Given the description of an element on the screen output the (x, y) to click on. 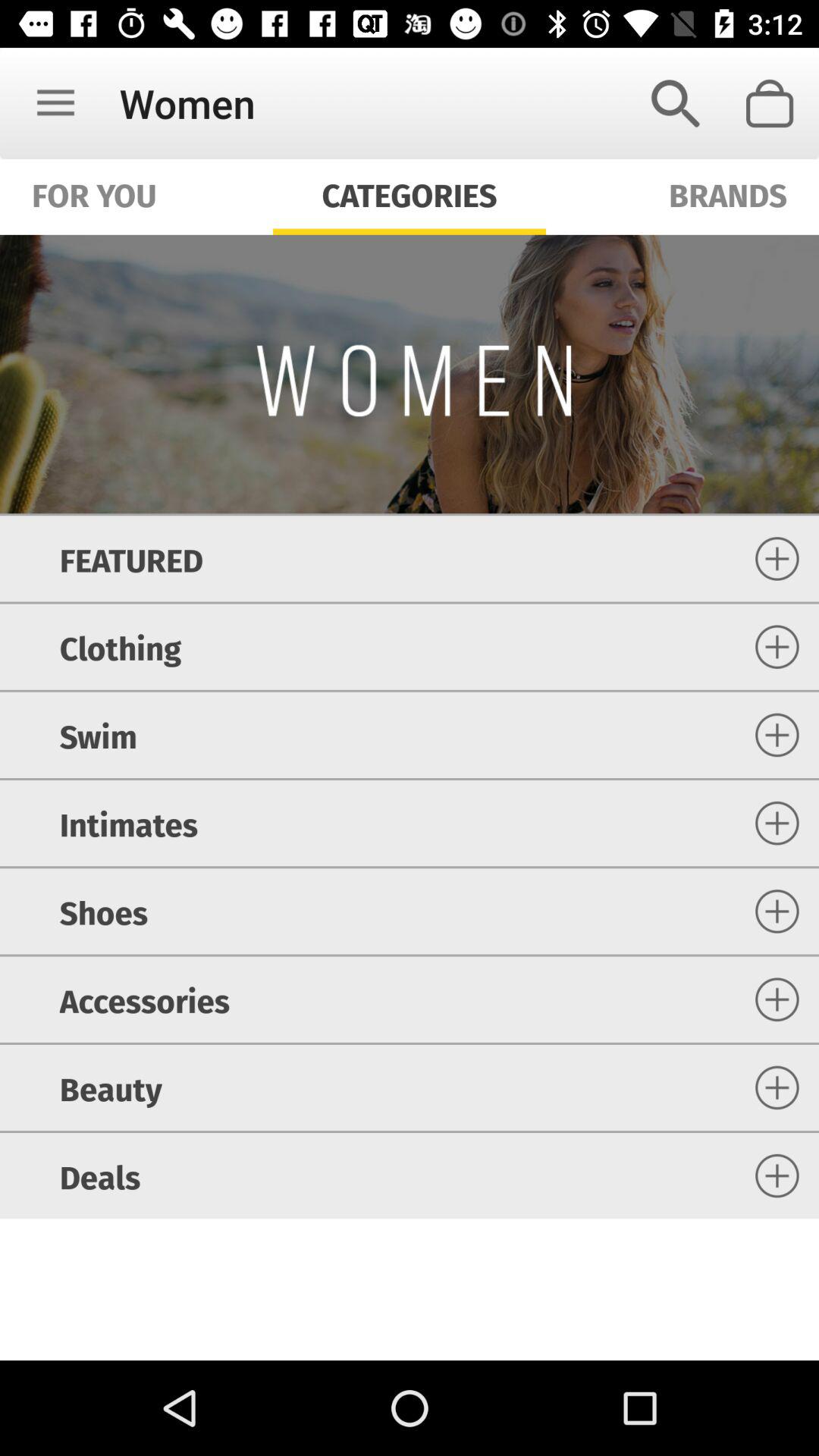
turn off the icon above the swim icon (120, 646)
